Given the description of an element on the screen output the (x, y) to click on. 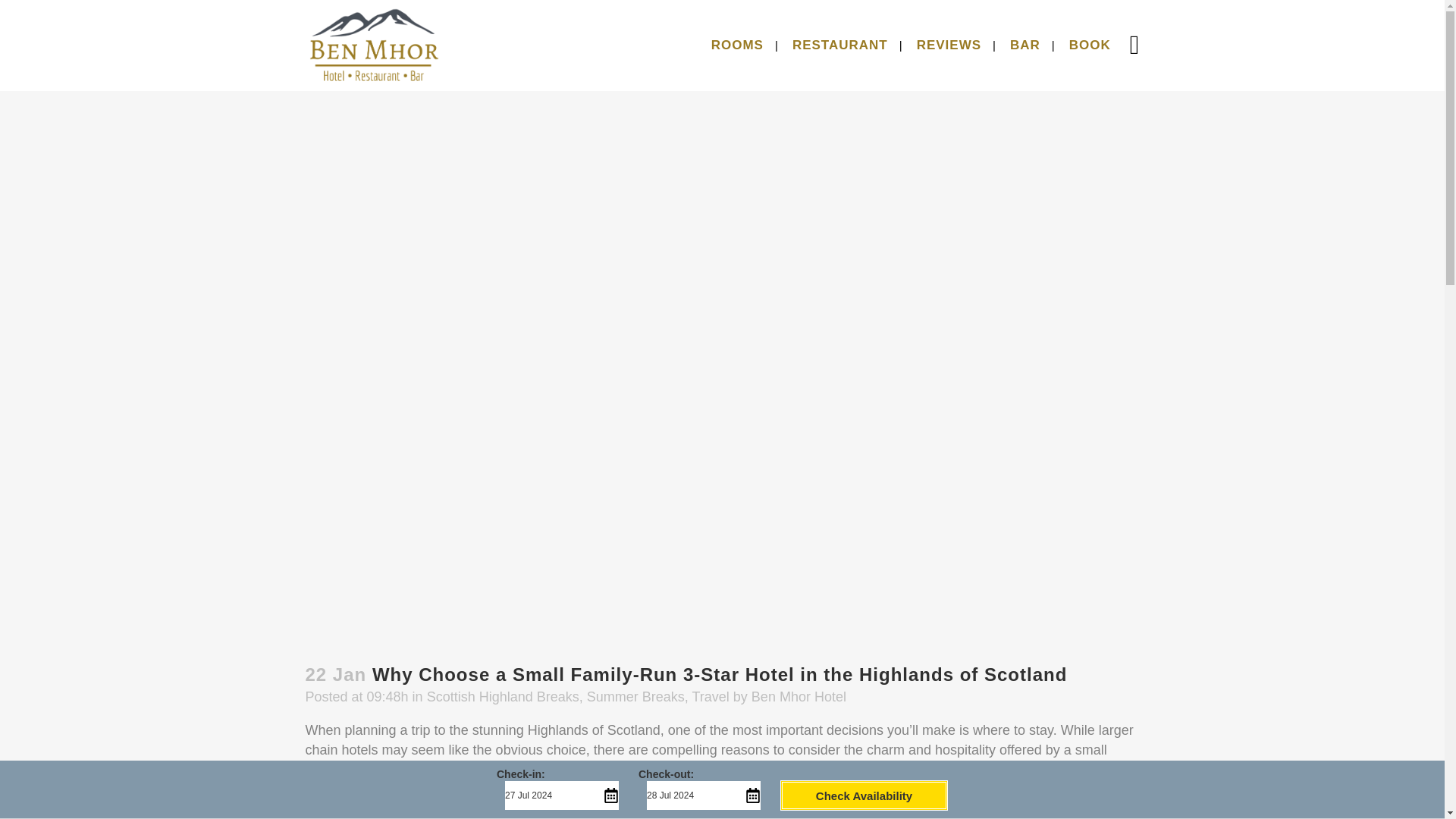
REVIEWS (949, 45)
28 Jul 2024 (702, 795)
Summer Breaks (635, 696)
RESTAURANT (839, 45)
Ben Mhor Hotel (798, 696)
Scottish Highland Breaks (502, 696)
27 Jul 2024 (559, 795)
Travel (710, 696)
